Given the description of an element on the screen output the (x, y) to click on. 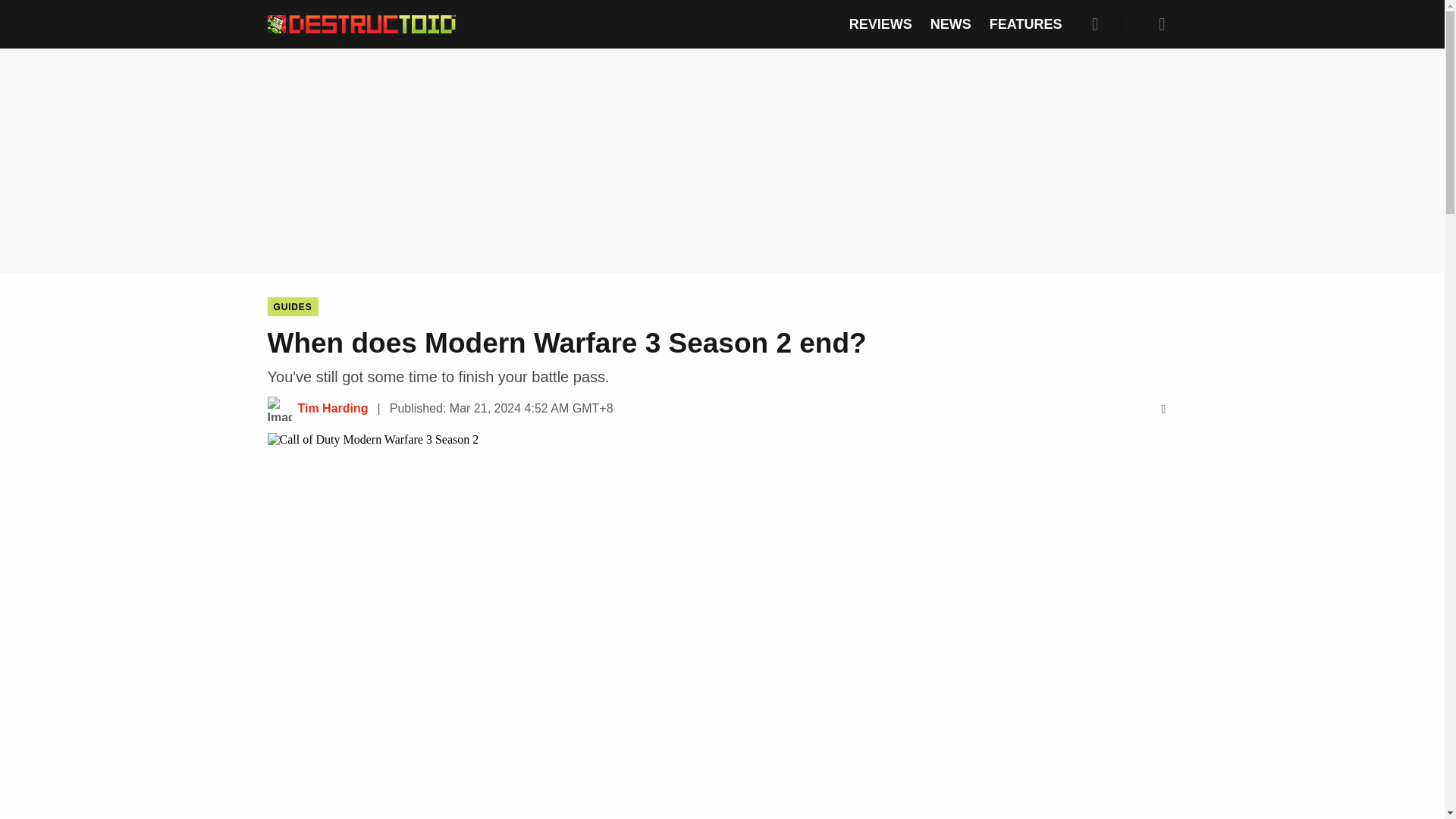
Expand Menu (1161, 24)
FEATURES (1026, 23)
Dark Mode (1127, 24)
Search (1094, 24)
REVIEWS (880, 23)
GUIDES (291, 306)
NEWS (950, 23)
